Given the description of an element on the screen output the (x, y) to click on. 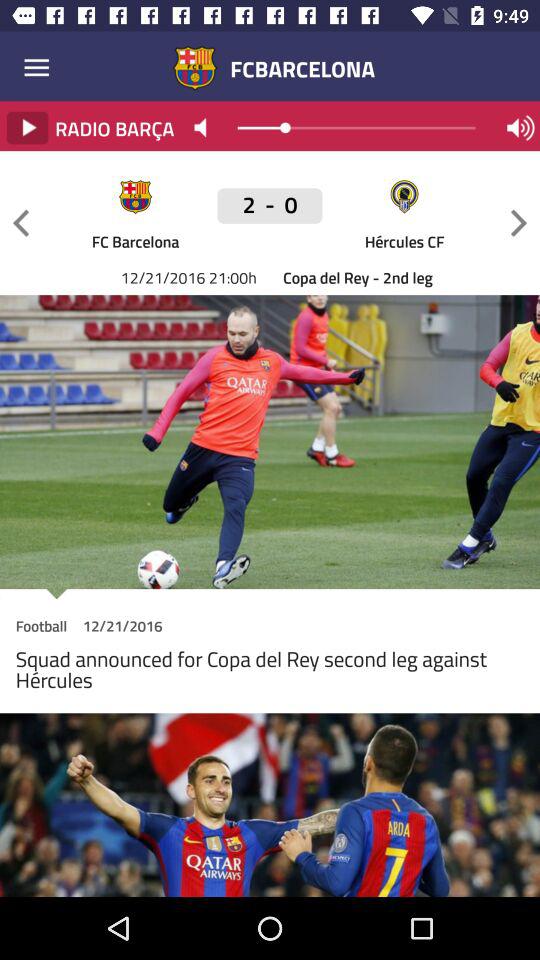
go to next game (519, 222)
